Given the description of an element on the screen output the (x, y) to click on. 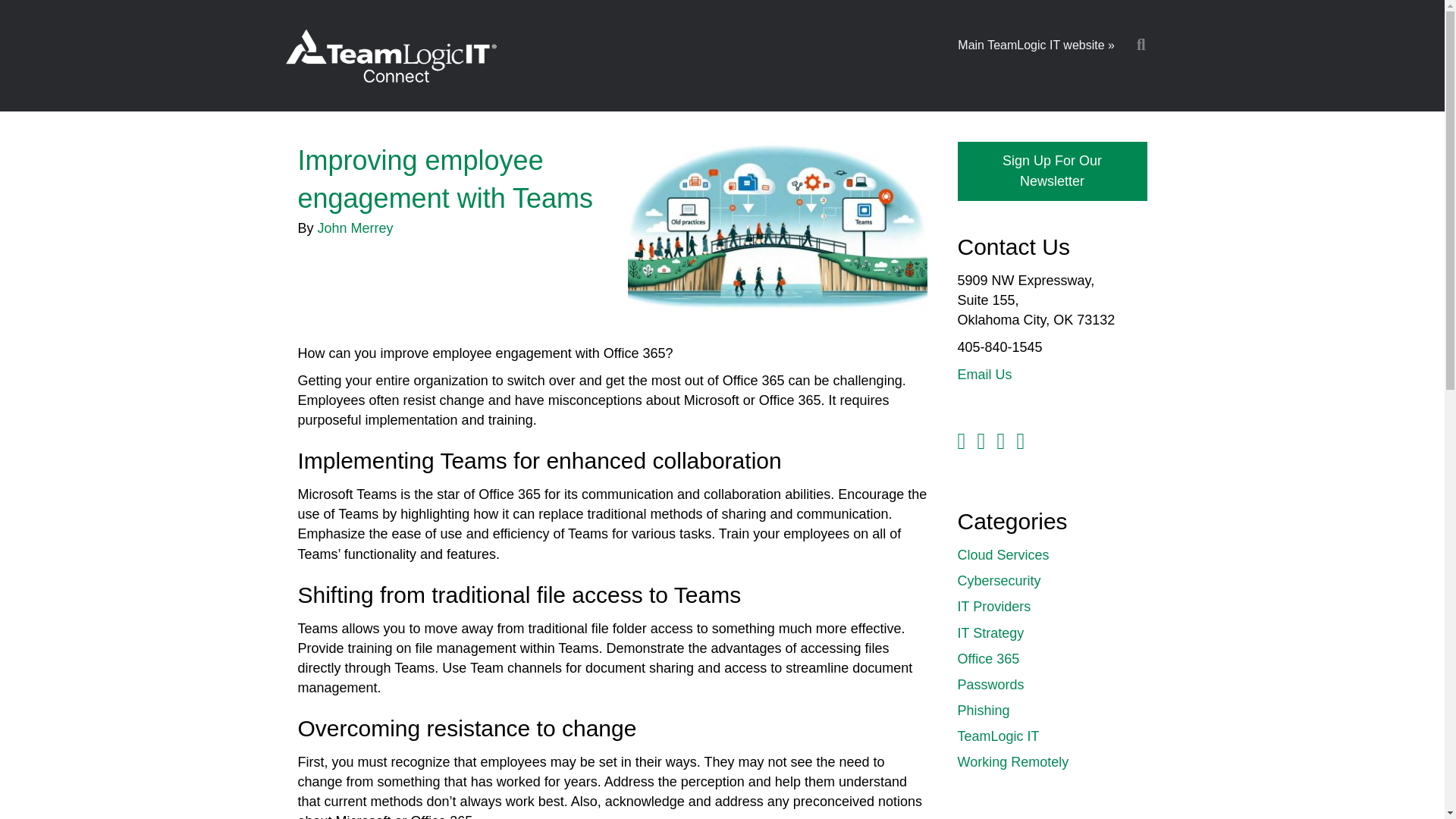
Working Remotely (1012, 761)
tlit connect logo (389, 57)
John Merrey (355, 227)
Sign Up For Our Newsletter (1051, 170)
Cloud Services (1002, 554)
Email Us (983, 374)
IT Strategy (989, 632)
Team-moving-to-Teams (777, 226)
Search (1143, 44)
Cybersecurity (998, 580)
